Given the description of an element on the screen output the (x, y) to click on. 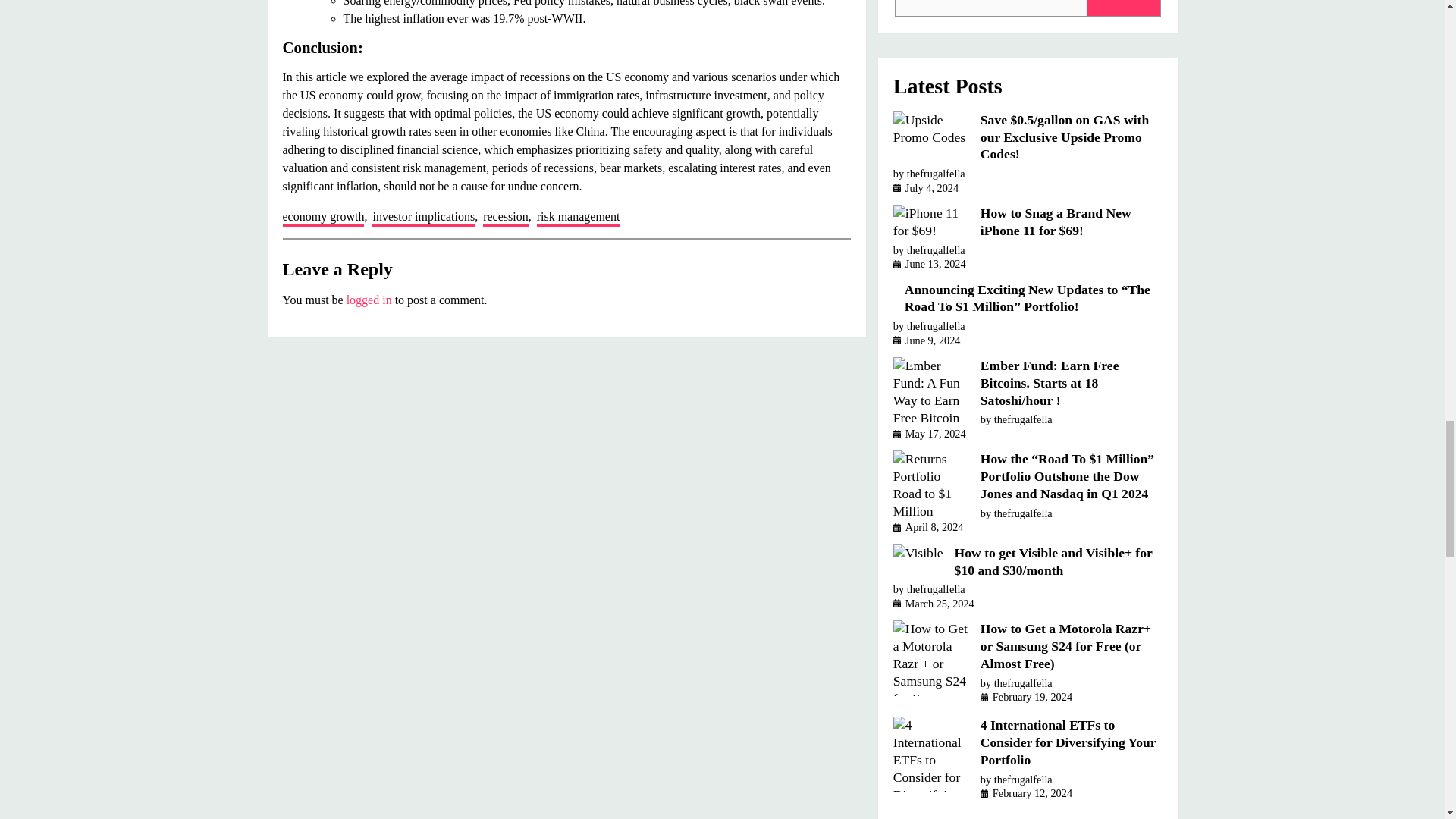
economy growth (323, 217)
recession (505, 217)
risk management (578, 217)
logged in (368, 299)
investor implications (423, 217)
